Given the description of an element on the screen output the (x, y) to click on. 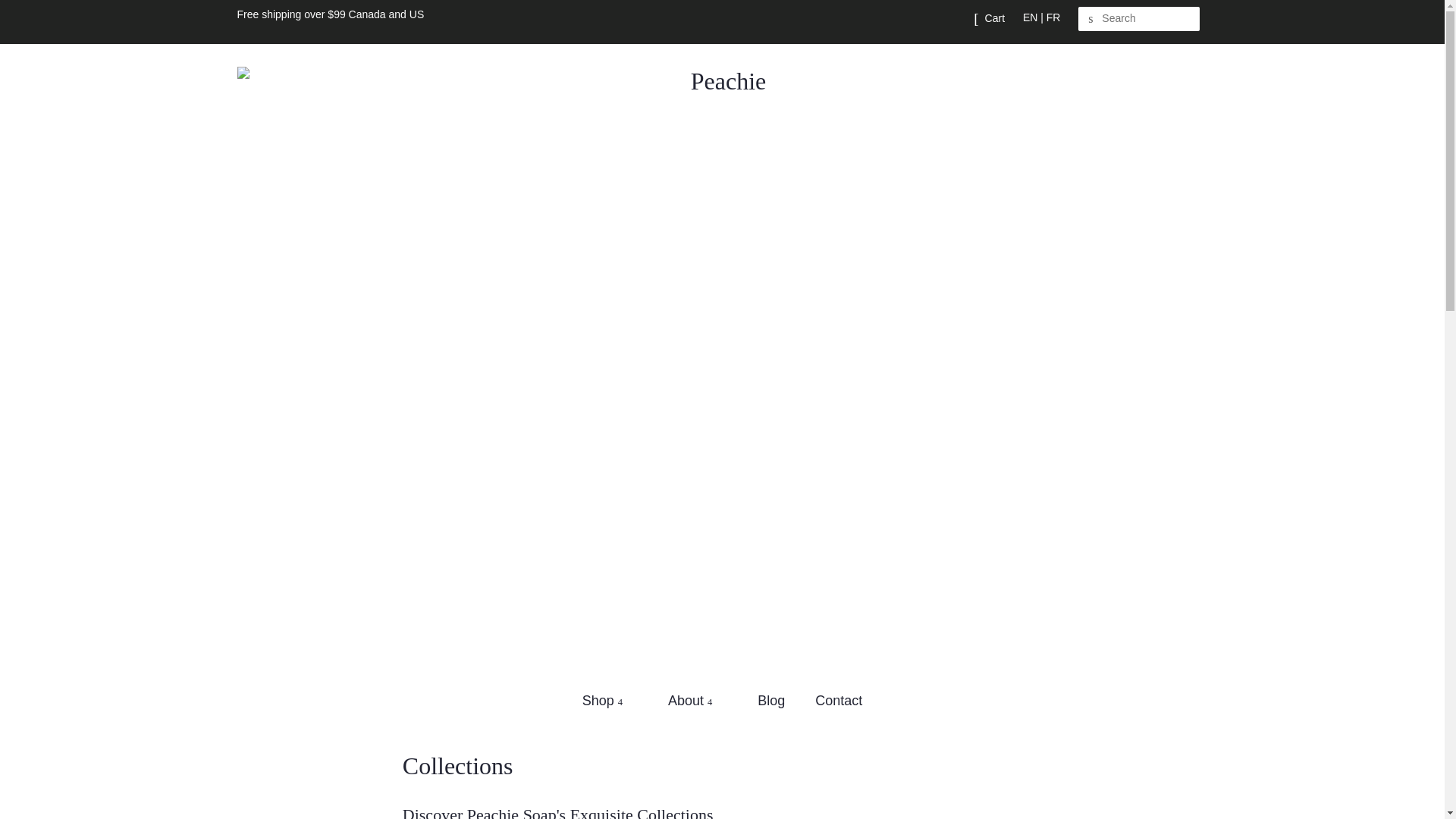
Cart (994, 18)
Shop (609, 700)
FR (1053, 17)
About (691, 700)
Blog (772, 700)
EN (1029, 17)
Search (1090, 18)
